Given the description of an element on the screen output the (x, y) to click on. 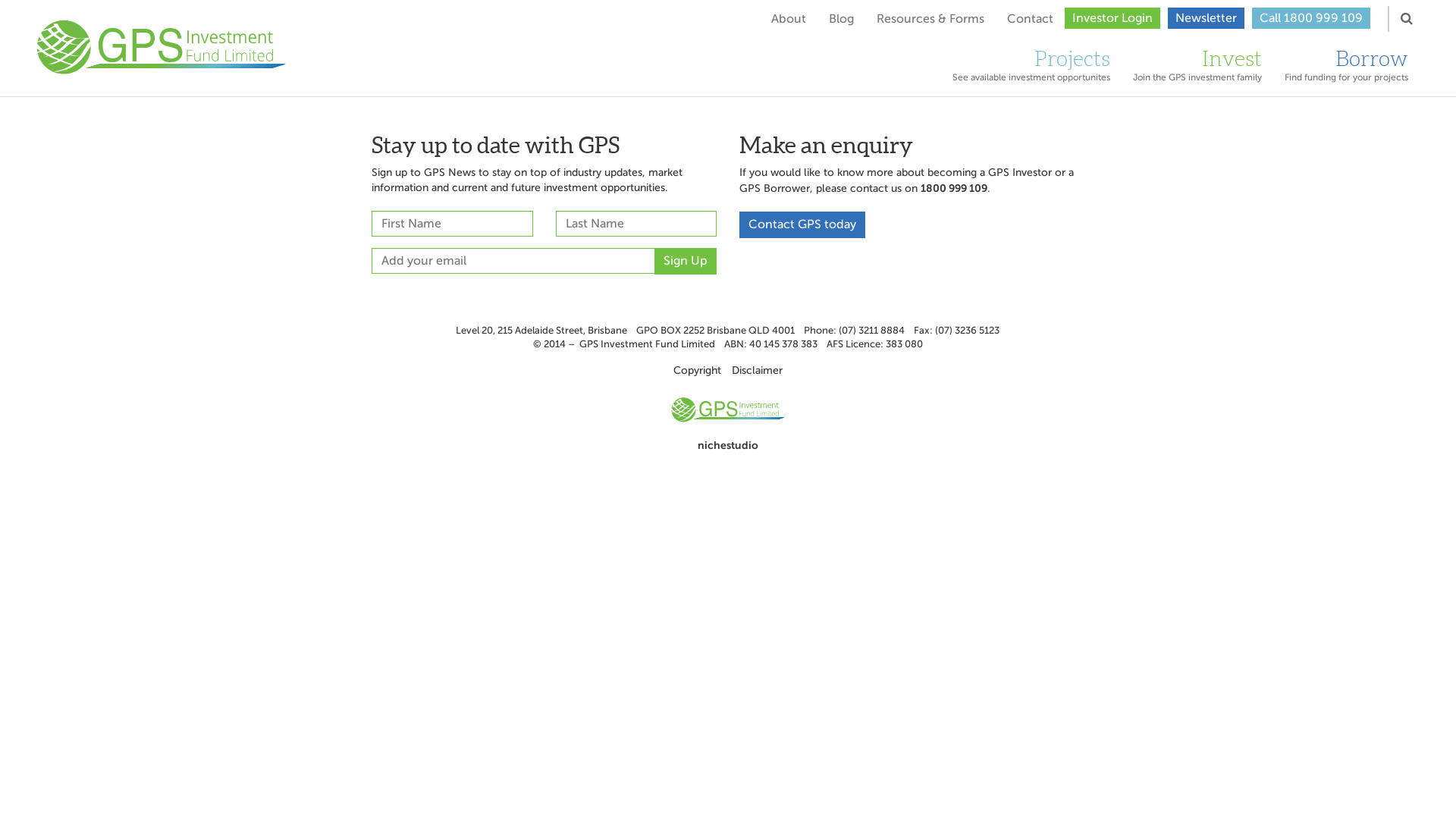
nichestudio Element type: text (727, 445)
Contact GPS today Element type: text (802, 224)
Disclaimer Element type: text (756, 370)
Borrow
Find funding for your projects Element type: text (1346, 68)
Sign Up Element type: text (685, 260)
Projects
See available investment opportunites Element type: text (1031, 68)
Search for: Element type: hover (1388, 18)
Blog Element type: text (841, 18)
Newsletter Element type: text (1205, 17)
Call 1800 999 109 Element type: text (1311, 17)
Invest
Join the GPS investment family Element type: text (1197, 68)
About Element type: text (788, 18)
Investor Login Element type: text (1112, 17)
Resources & Forms Element type: text (930, 18)
Copyright Element type: text (697, 370)
Contact Element type: text (1029, 18)
